Given the description of an element on the screen output the (x, y) to click on. 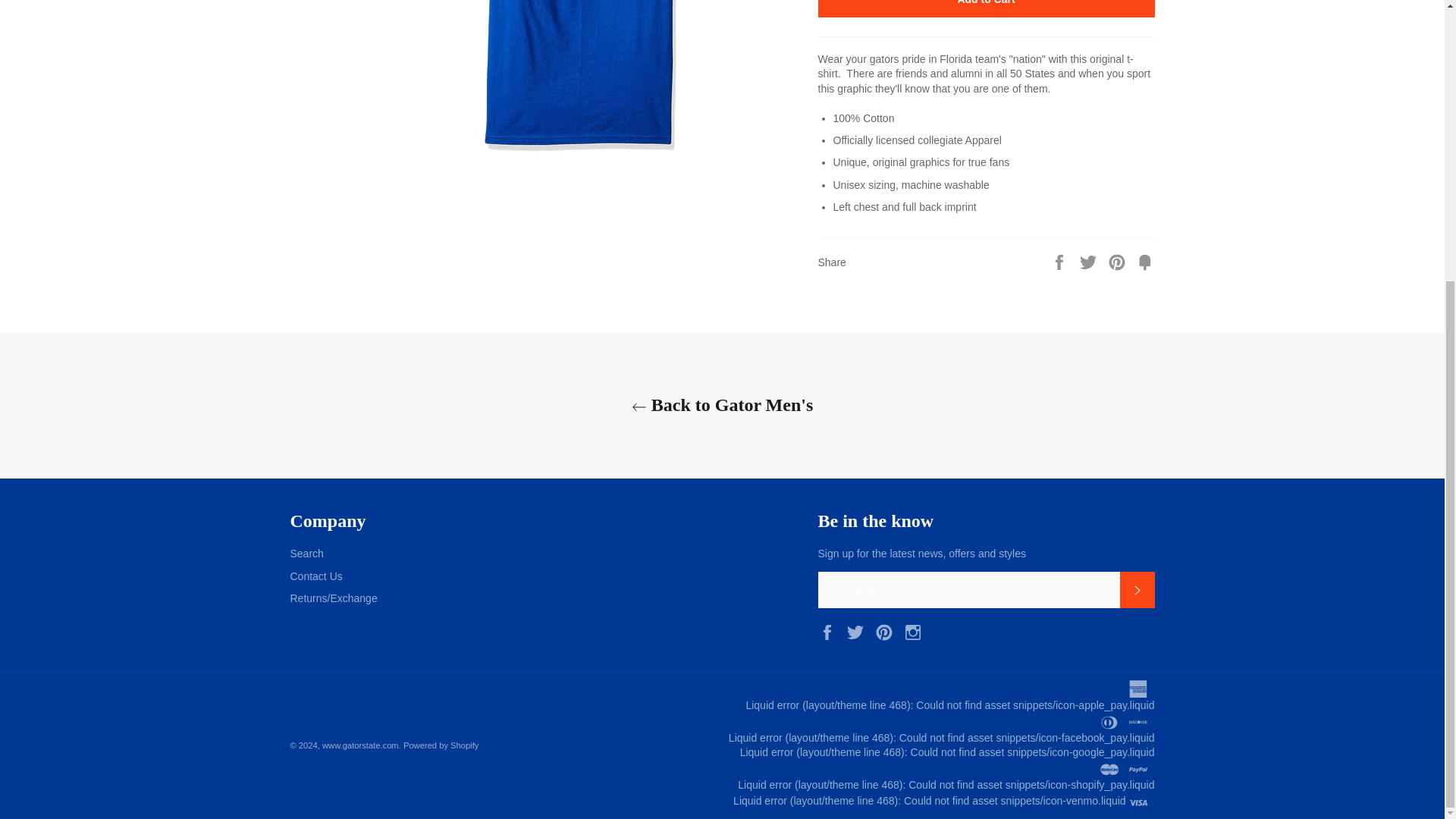
Pin it (1118, 261)
www.gatorstate.com on Twitter (858, 630)
Add to Cart (985, 8)
Share (1060, 261)
Tweet (1089, 261)
Fancy (1144, 261)
www.gatorstate.com on Facebook (829, 630)
www.gatorstate.com on Instagram (917, 630)
www.gatorstate.com on Pinterest (888, 630)
